Given the description of an element on the screen output the (x, y) to click on. 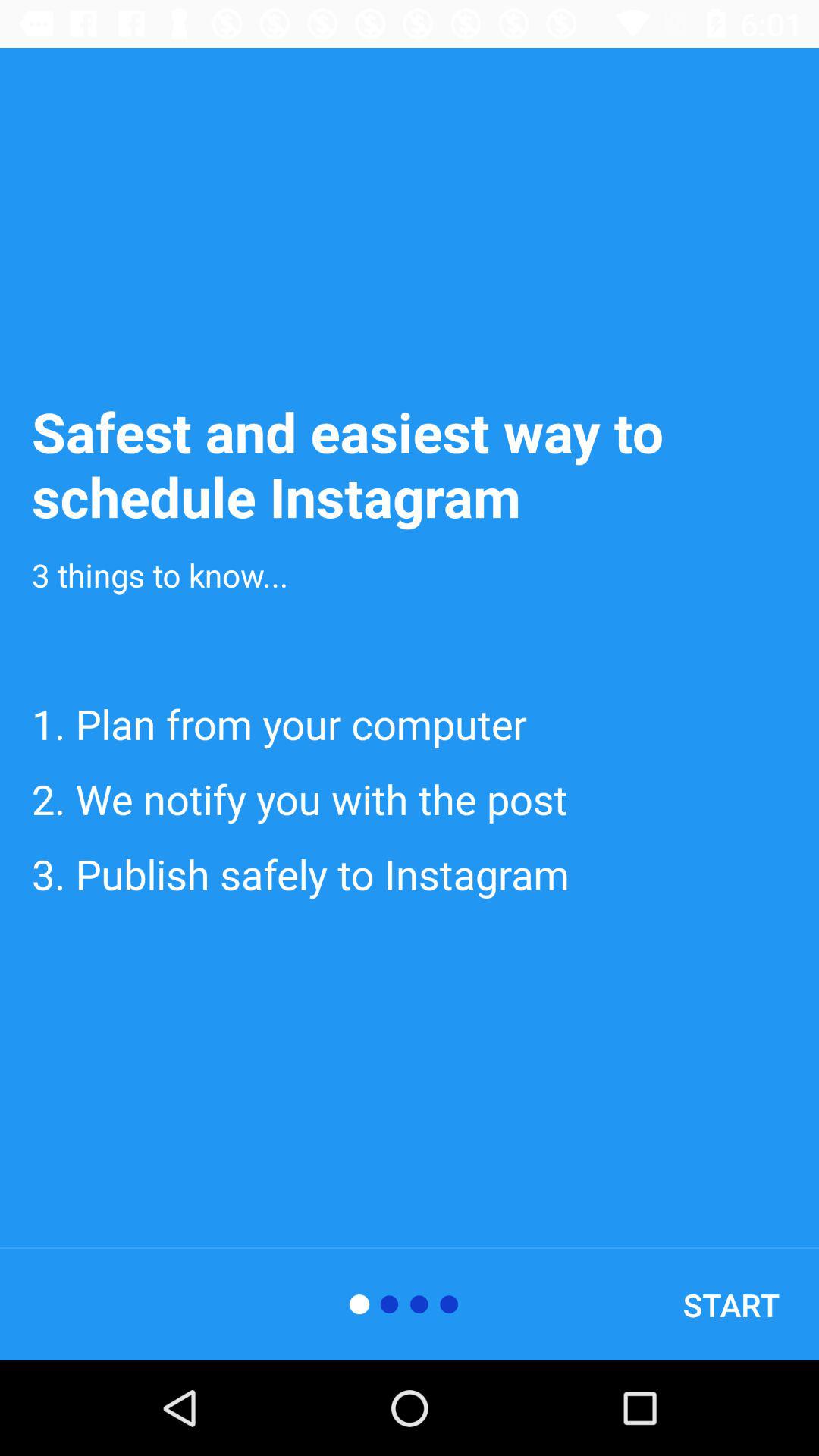
swipe to the start item (731, 1304)
